Given the description of an element on the screen output the (x, y) to click on. 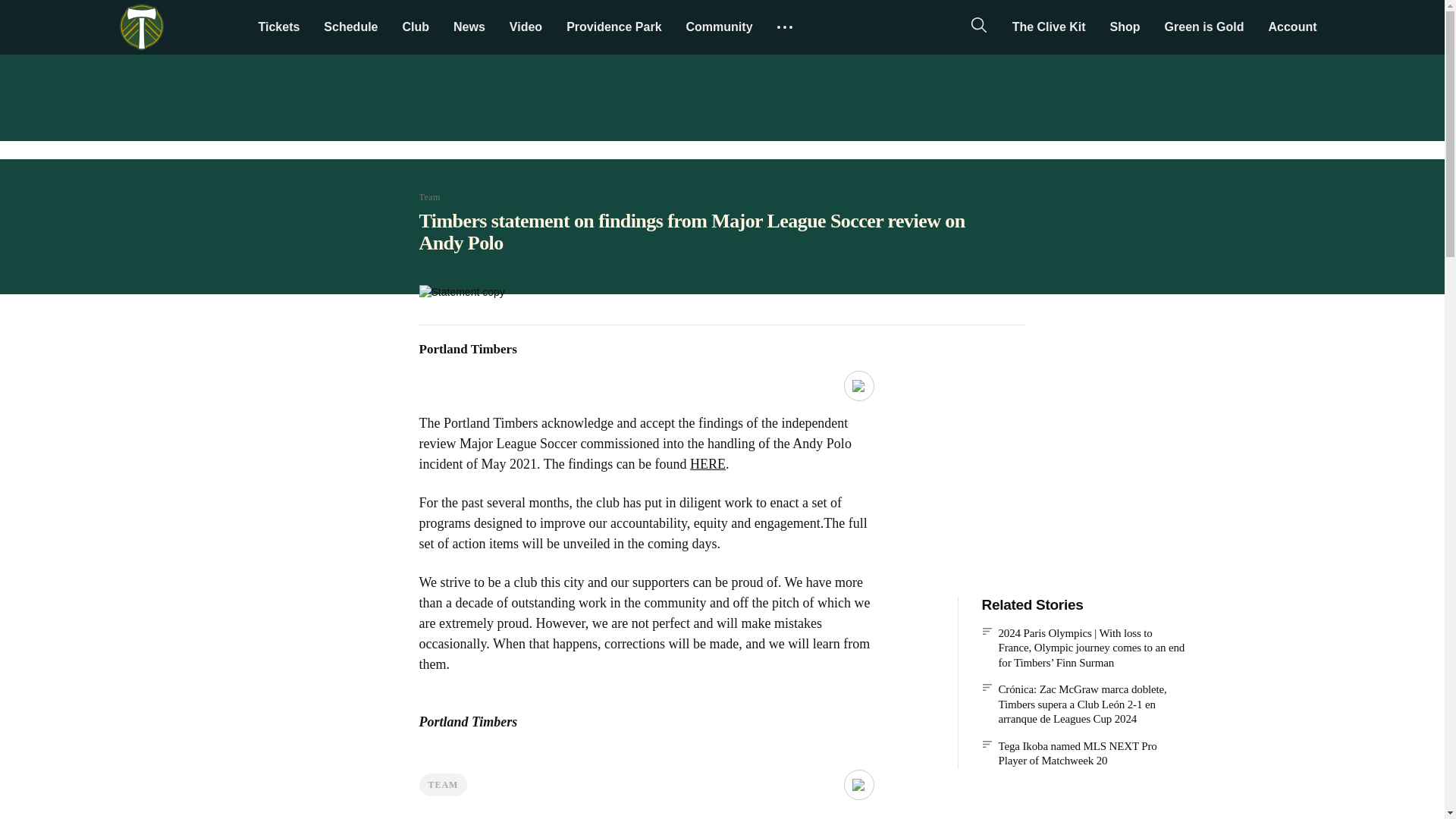
Community (719, 26)
Shop (1125, 26)
Tickets (278, 26)
Video (525, 26)
Club (415, 26)
Providence Park (613, 26)
Schedule (350, 26)
The Clive Kit (1048, 26)
Portland Timbers (141, 27)
Account (1291, 26)
Green is Gold (1204, 26)
News (469, 26)
